Given the description of an element on the screen output the (x, y) to click on. 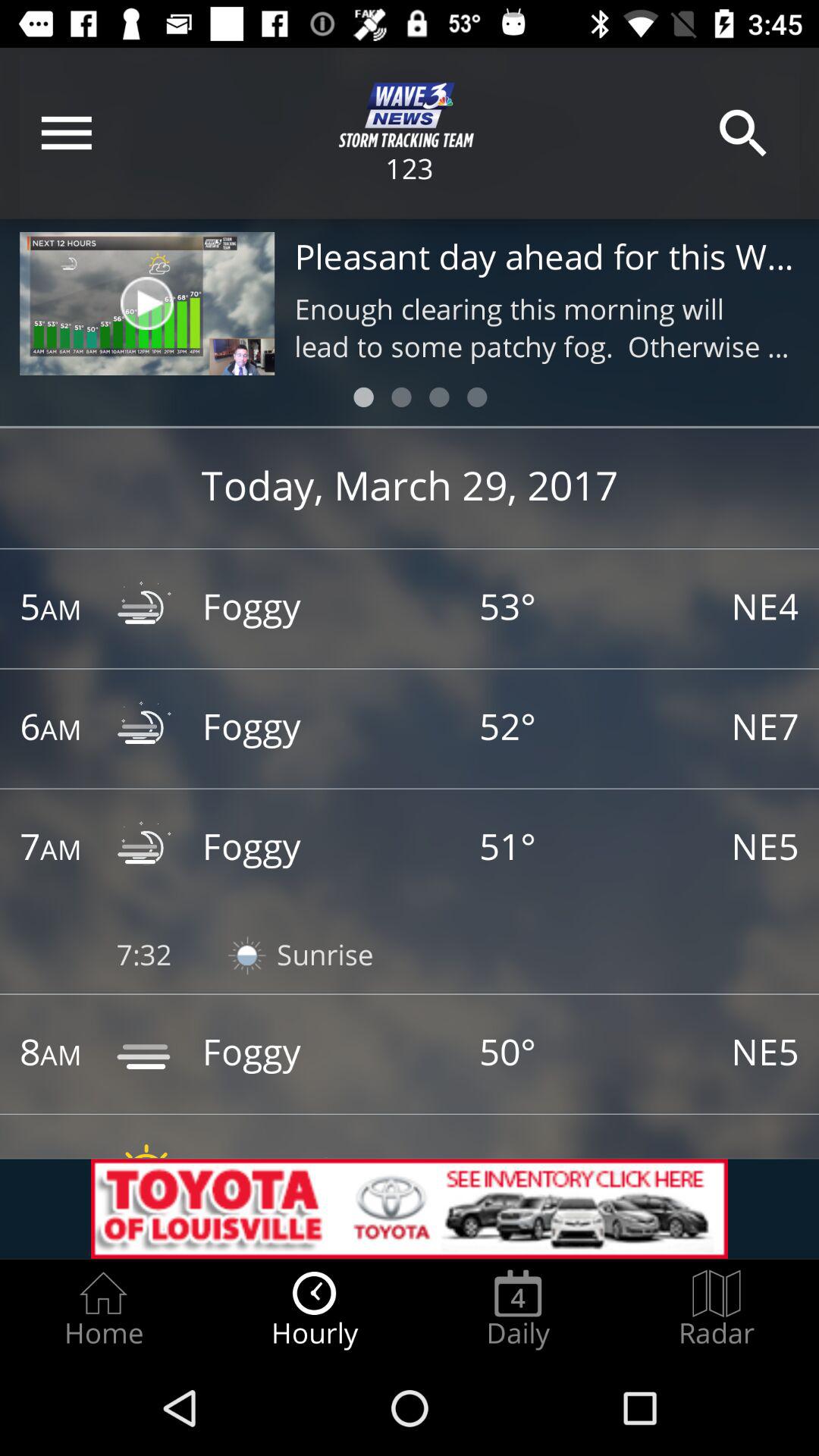
jump until daily item (518, 1309)
